Given the description of an element on the screen output the (x, y) to click on. 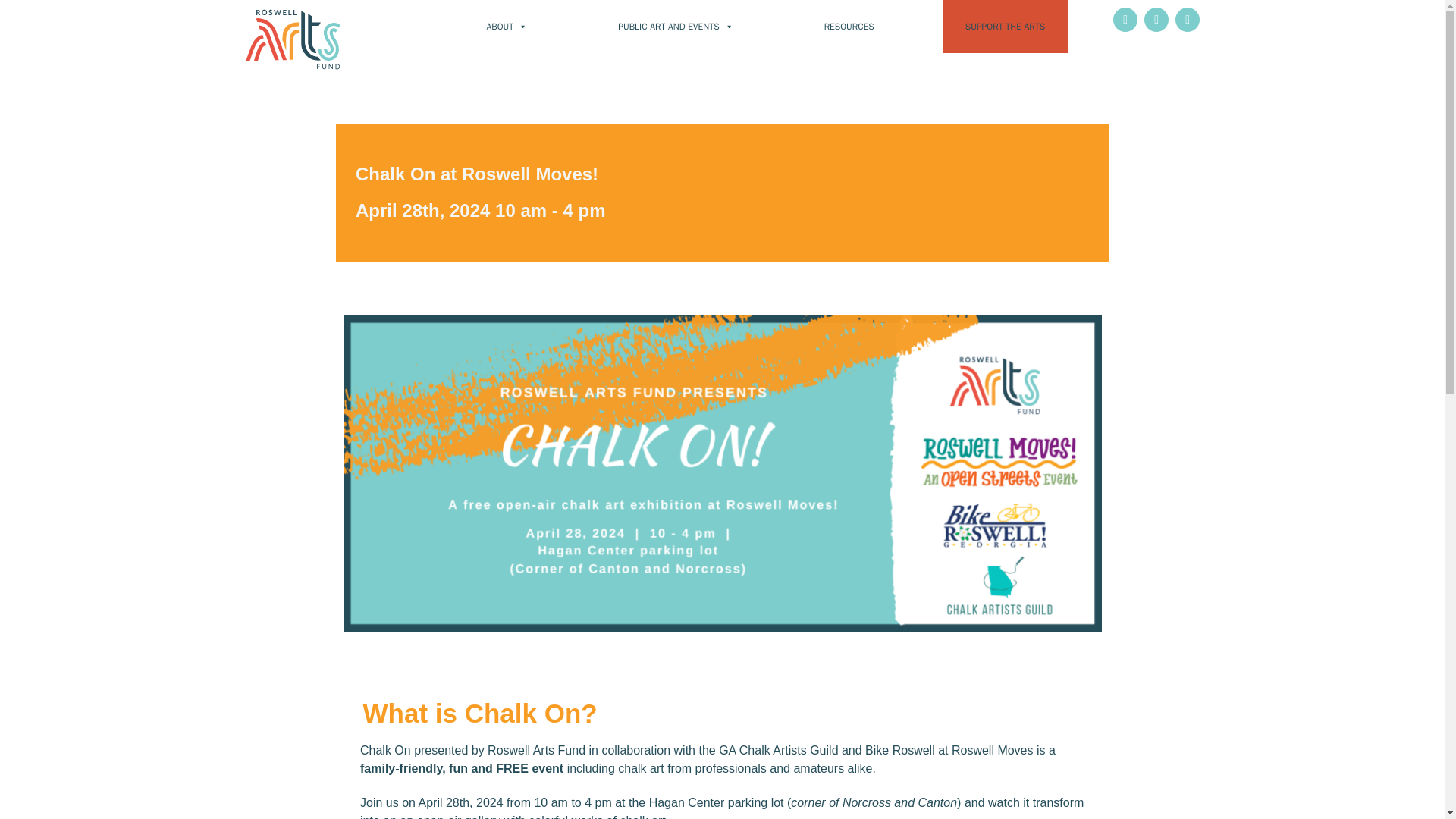
SUPPORT THE ARTS (1004, 26)
RESOURCES (849, 26)
PUBLIC ART AND EVENTS (675, 26)
ABOUT (507, 26)
